Given the description of an element on the screen output the (x, y) to click on. 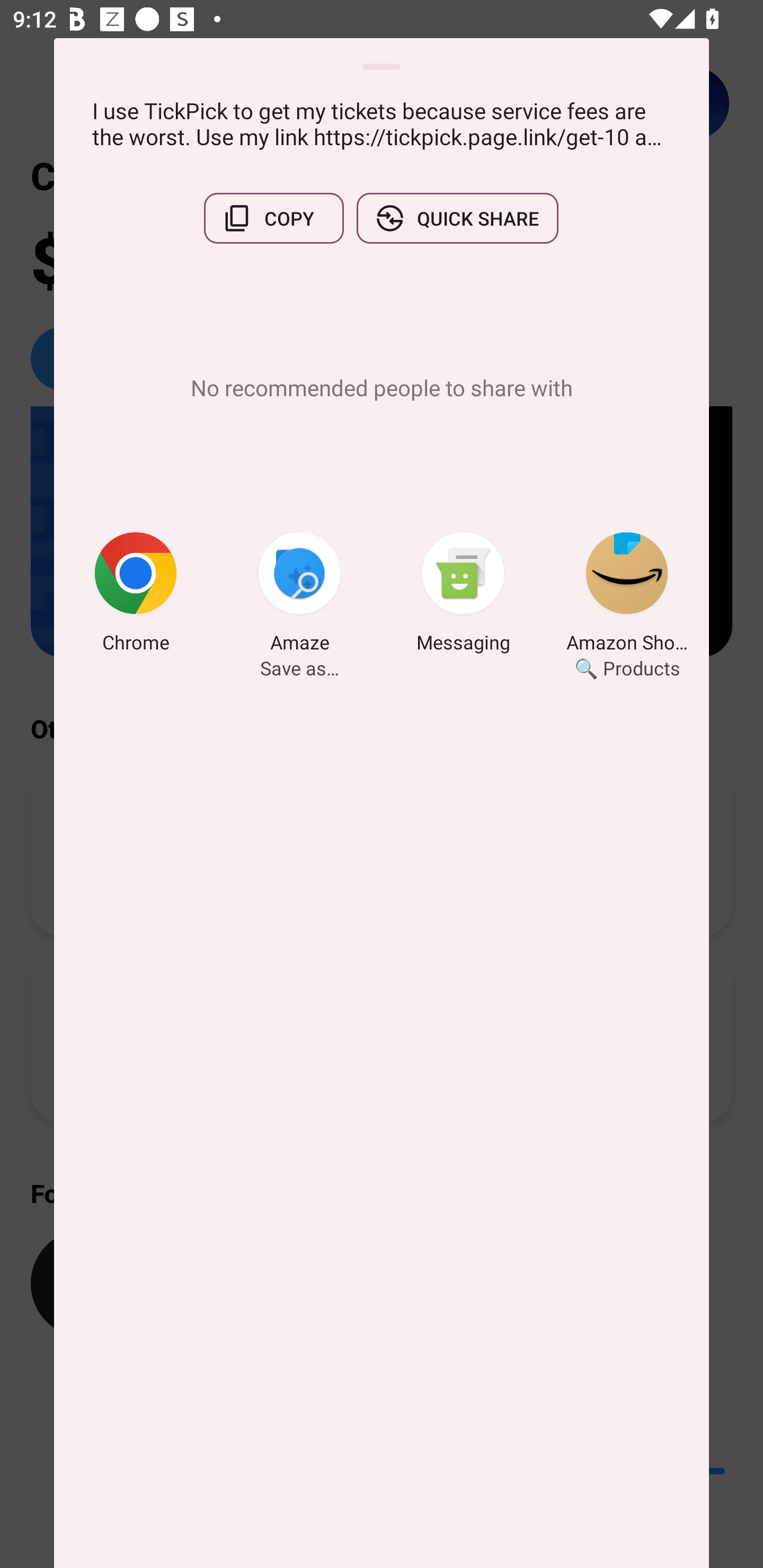
COPY (273, 218)
QUICK SHARE (457, 218)
Chrome (135, 594)
Amaze Save as… (299, 594)
Messaging (463, 594)
Amazon Shopping 🔍 Products (626, 594)
